Given the description of an element on the screen output the (x, y) to click on. 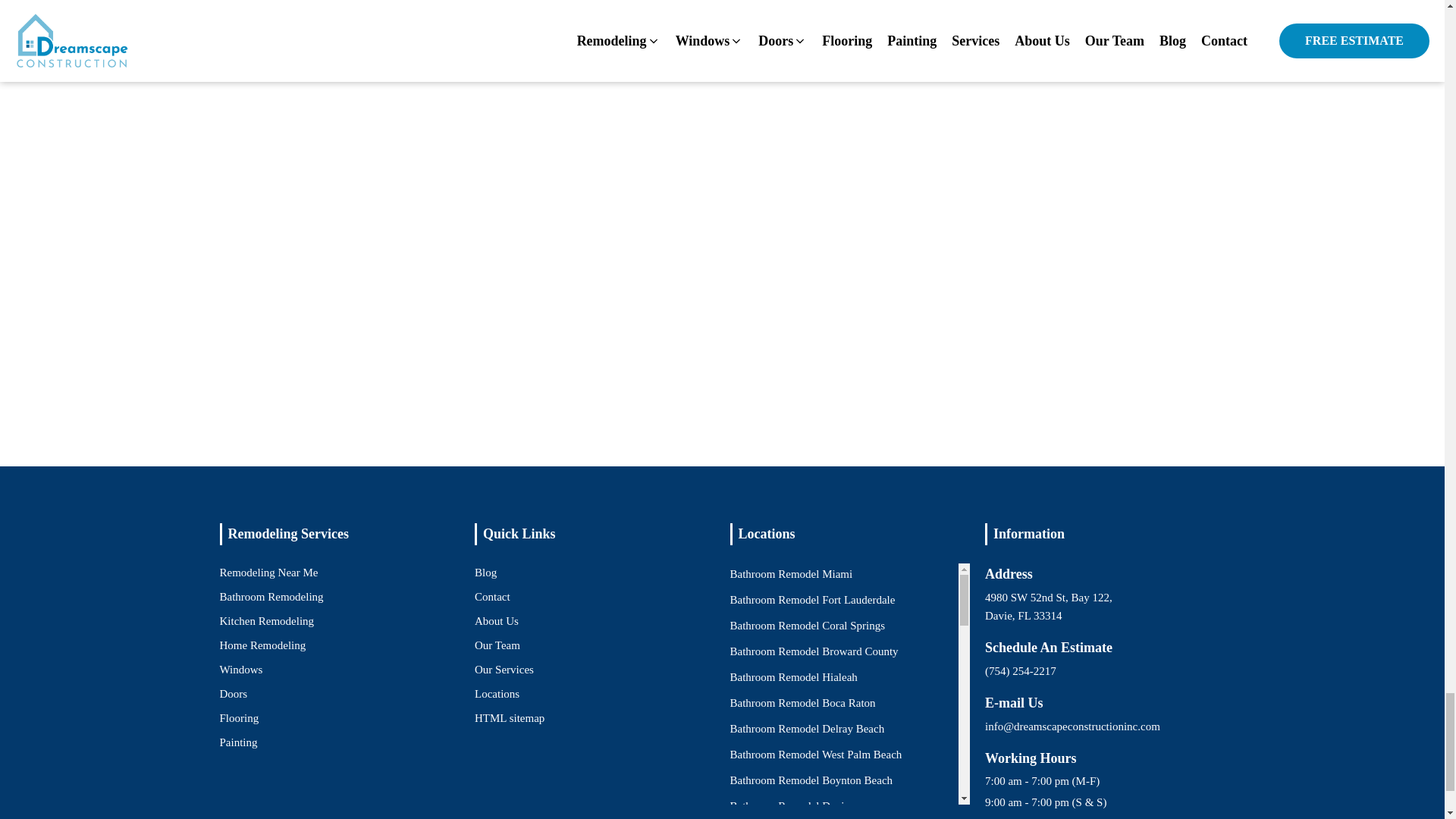
Painting (238, 742)
Bathroom Remodeling (271, 597)
Flooring (239, 718)
Windows (241, 669)
Doors (233, 693)
Remodeling Near Me (268, 572)
Kitchen Remodeling (266, 620)
Home Remodeling (262, 645)
Blog (485, 572)
Contact (492, 597)
About Us (496, 620)
